Given the description of an element on the screen output the (x, y) to click on. 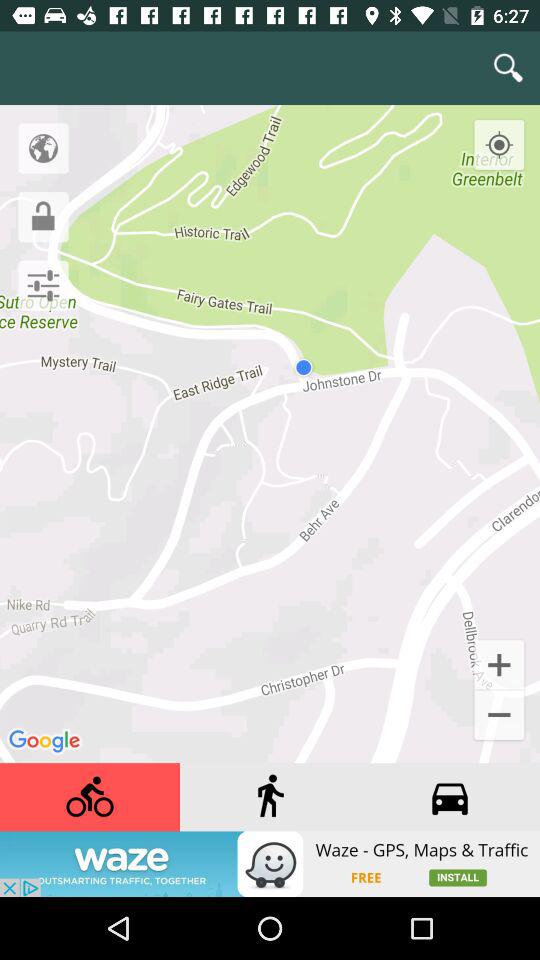
select  at the left bottom (499, 648)
tap the search icon at the top right corner (508, 68)
select the mystery text which is in the white background (40, 376)
select google (46, 727)
click on recenter (516, 127)
